Given the description of an element on the screen output the (x, y) to click on. 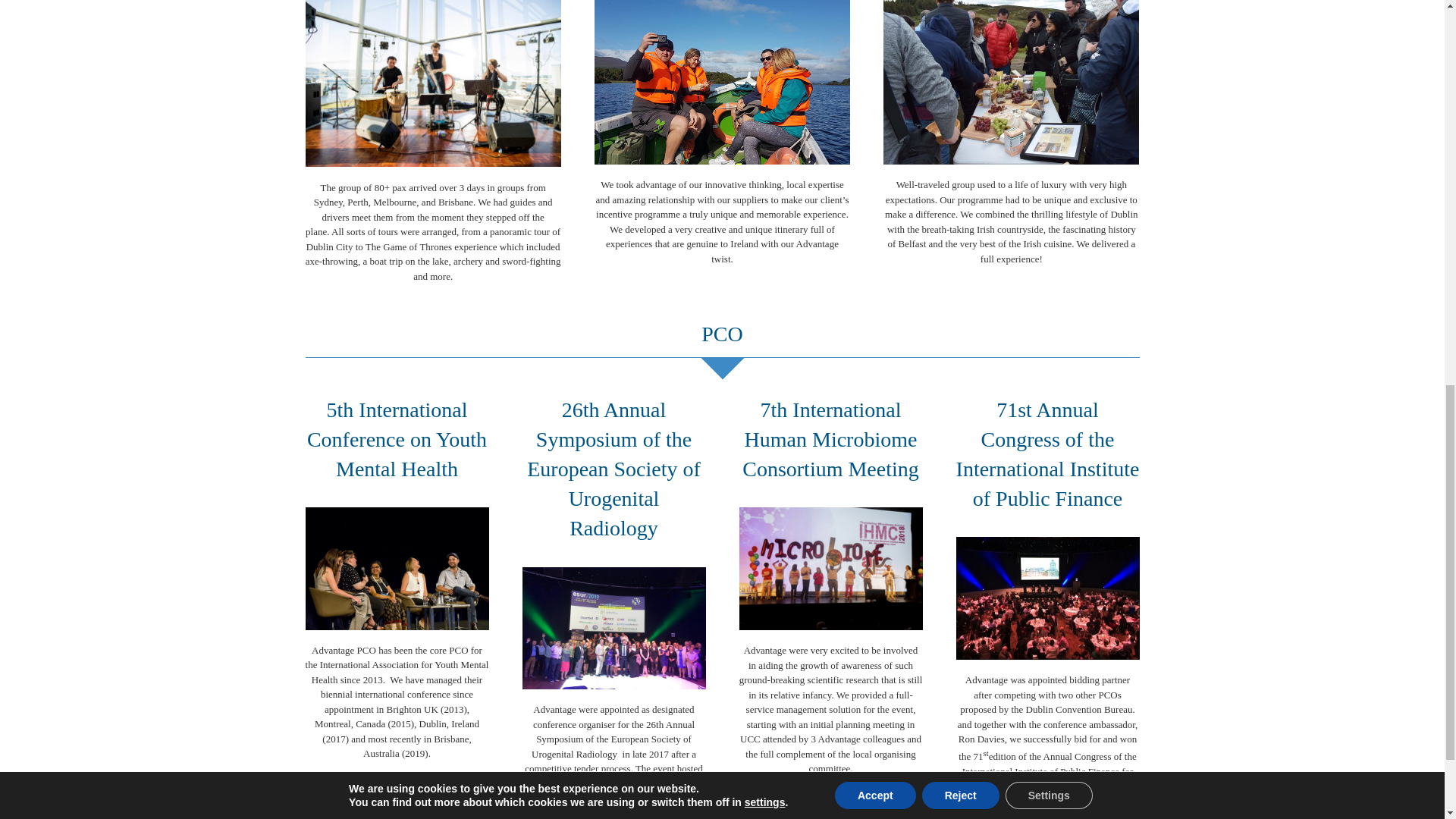
Killarney Incentive (722, 82)
iaymh-panel (395, 567)
ihmc3 (829, 567)
ESUR Photo 1 (612, 628)
iipfdinner (1046, 598)
JaycoMusic (432, 83)
